Given the description of an element on the screen output the (x, y) to click on. 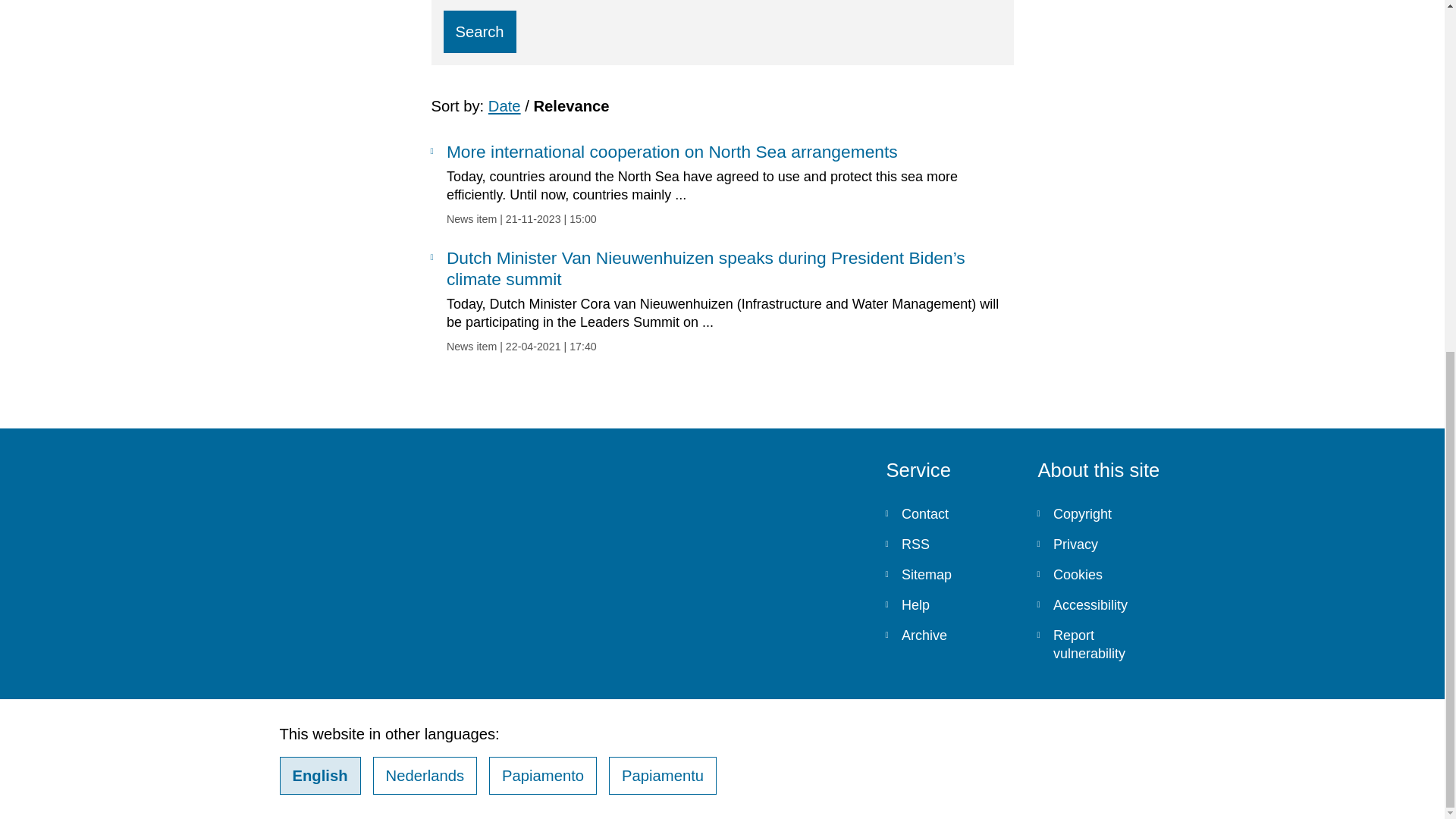
Accessibility (1100, 604)
Contact (949, 513)
Archive (949, 634)
Date (504, 105)
Search (478, 31)
Sitemap (949, 574)
Cookies (1100, 574)
Nederlands (424, 775)
RSS (949, 544)
Copyright (1100, 513)
Privacy (1100, 544)
Papiamento (542, 775)
Report vulnerability (1100, 644)
Papiamentu (662, 775)
Search (478, 31)
